Given the description of an element on the screen output the (x, y) to click on. 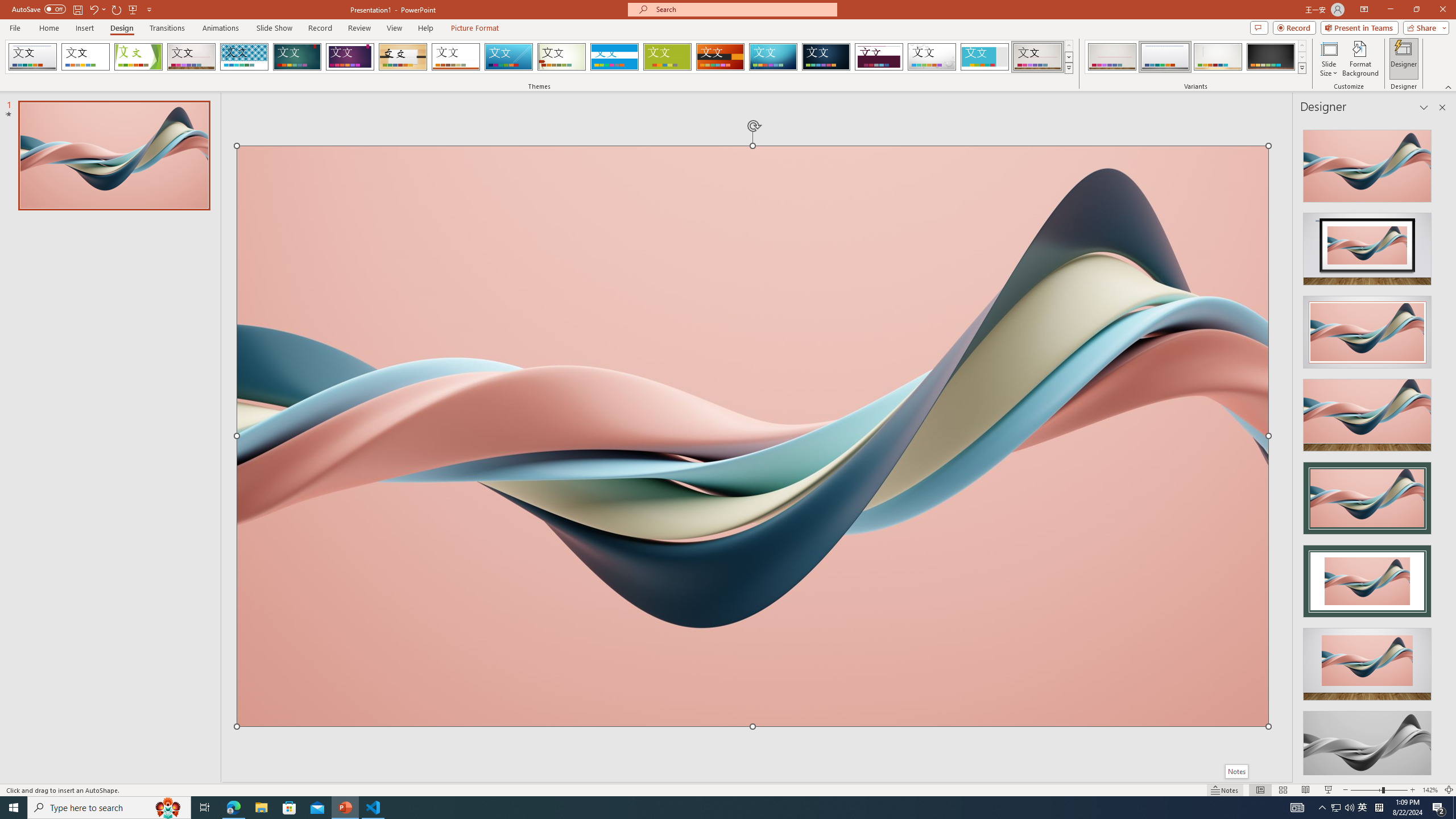
AutomationID: ThemeVariantsGallery (1195, 56)
Frame (984, 56)
Integral (244, 56)
Gallery Variant 2 (1164, 56)
